Given the description of an element on the screen output the (x, y) to click on. 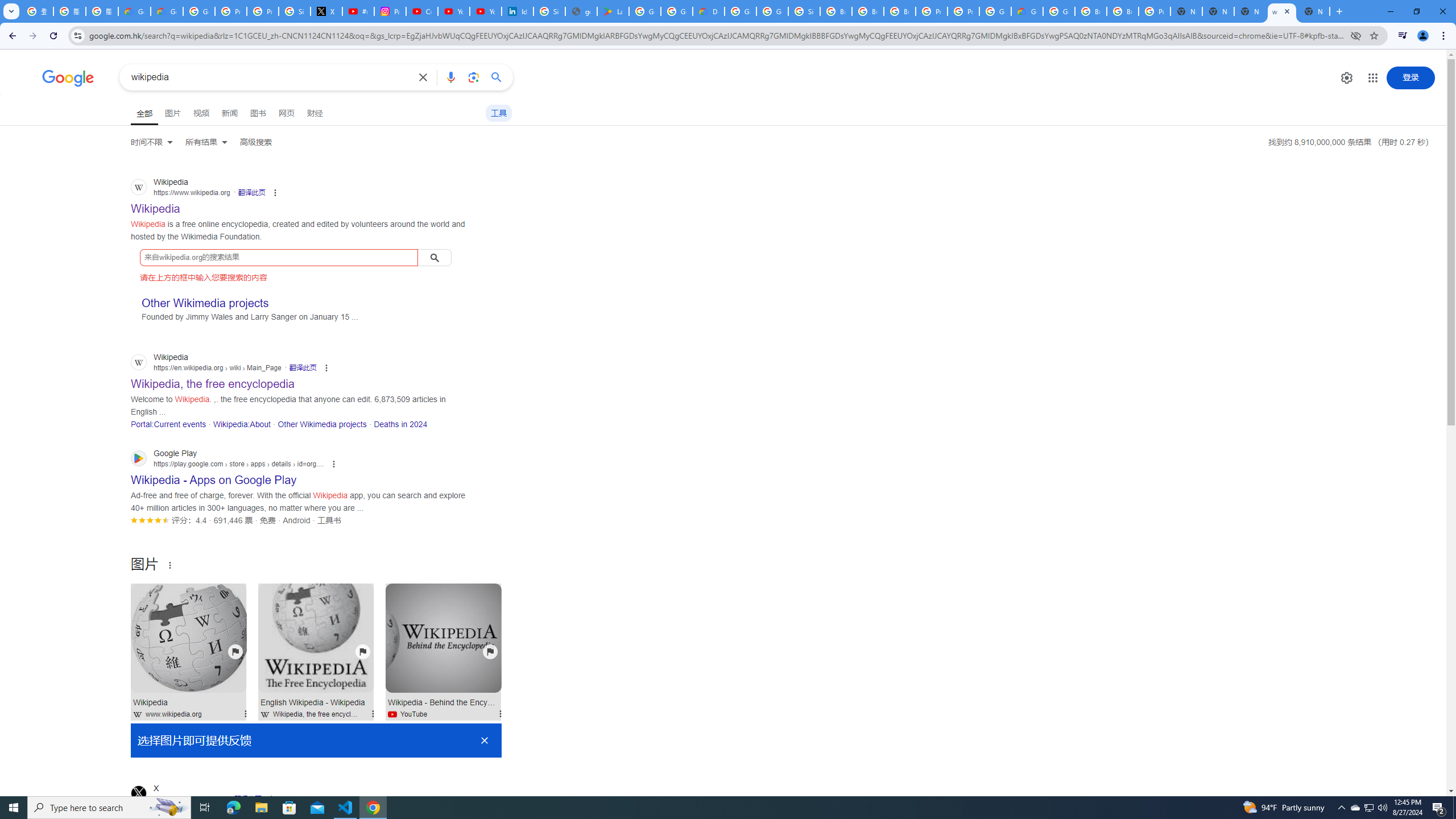
Wikipedia:About (241, 424)
